Given the description of an element on the screen output the (x, y) to click on. 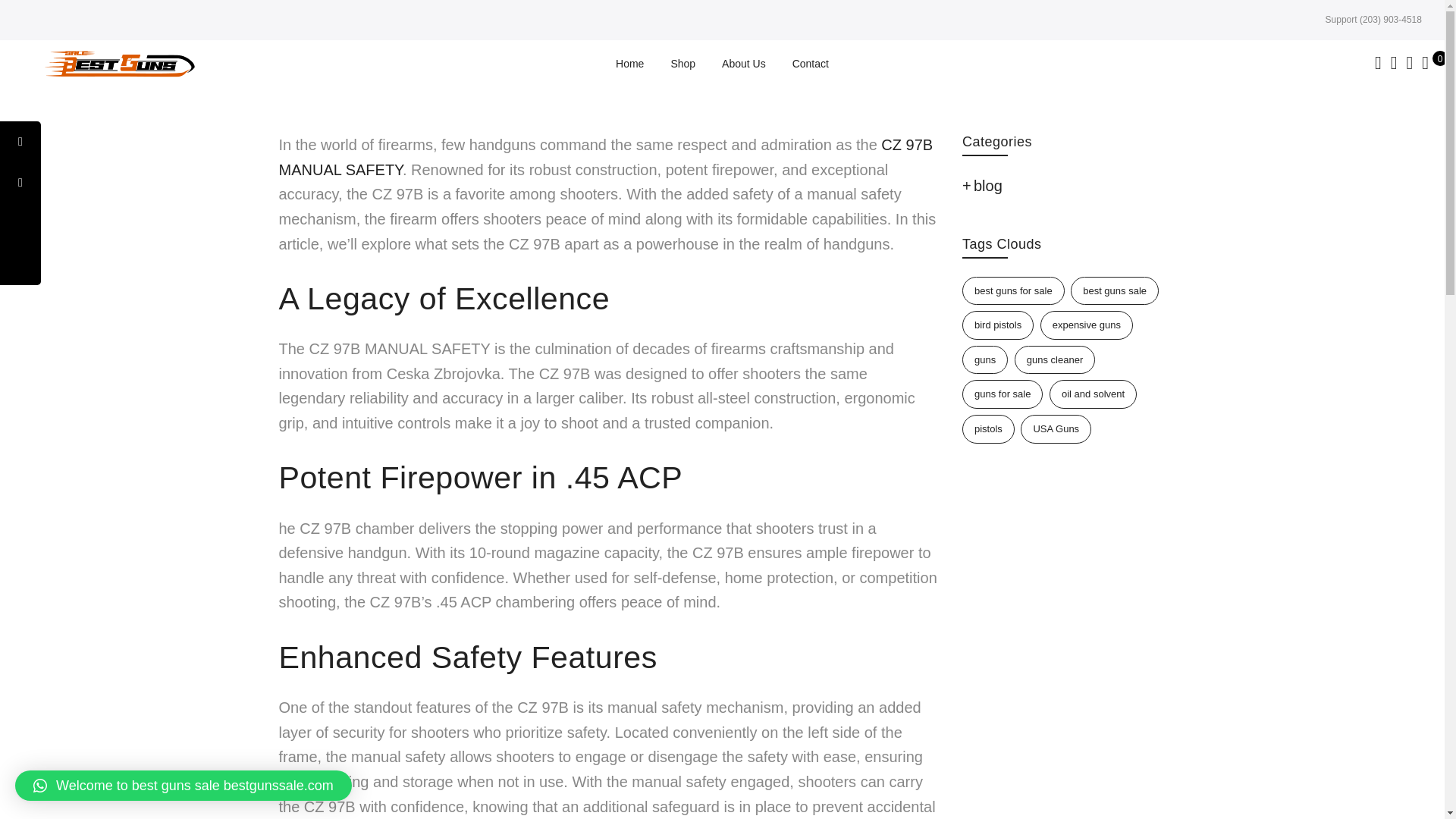
About Us (743, 63)
Shop (682, 63)
Home (629, 63)
Contact (810, 63)
